Given the description of an element on the screen output the (x, y) to click on. 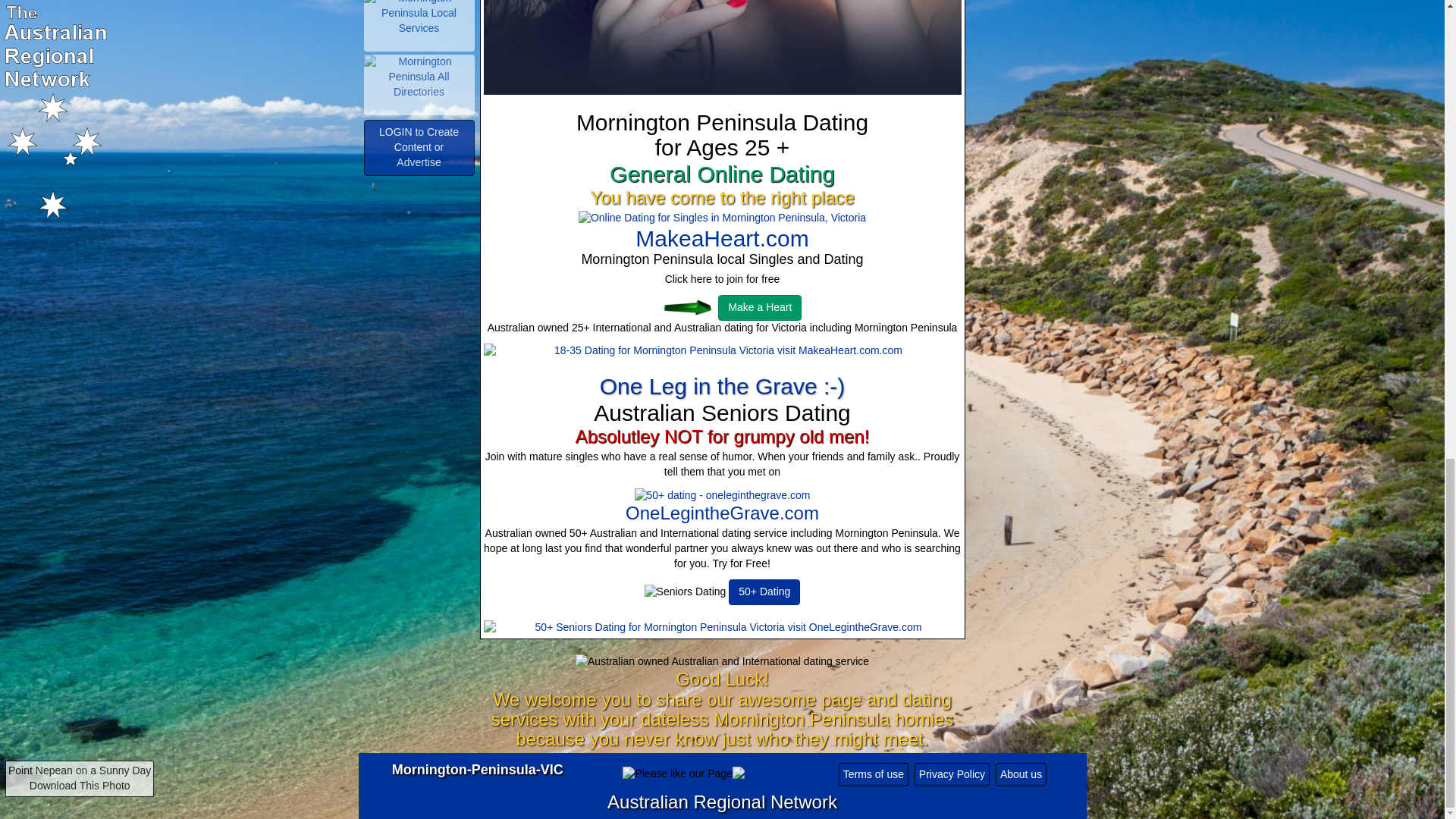
Please like our Page (677, 774)
Online Dating for Singles in Mornington Peninsula, Victoria (722, 218)
Seniors Dating (685, 591)
Dating (679, 307)
